Given the description of an element on the screen output the (x, y) to click on. 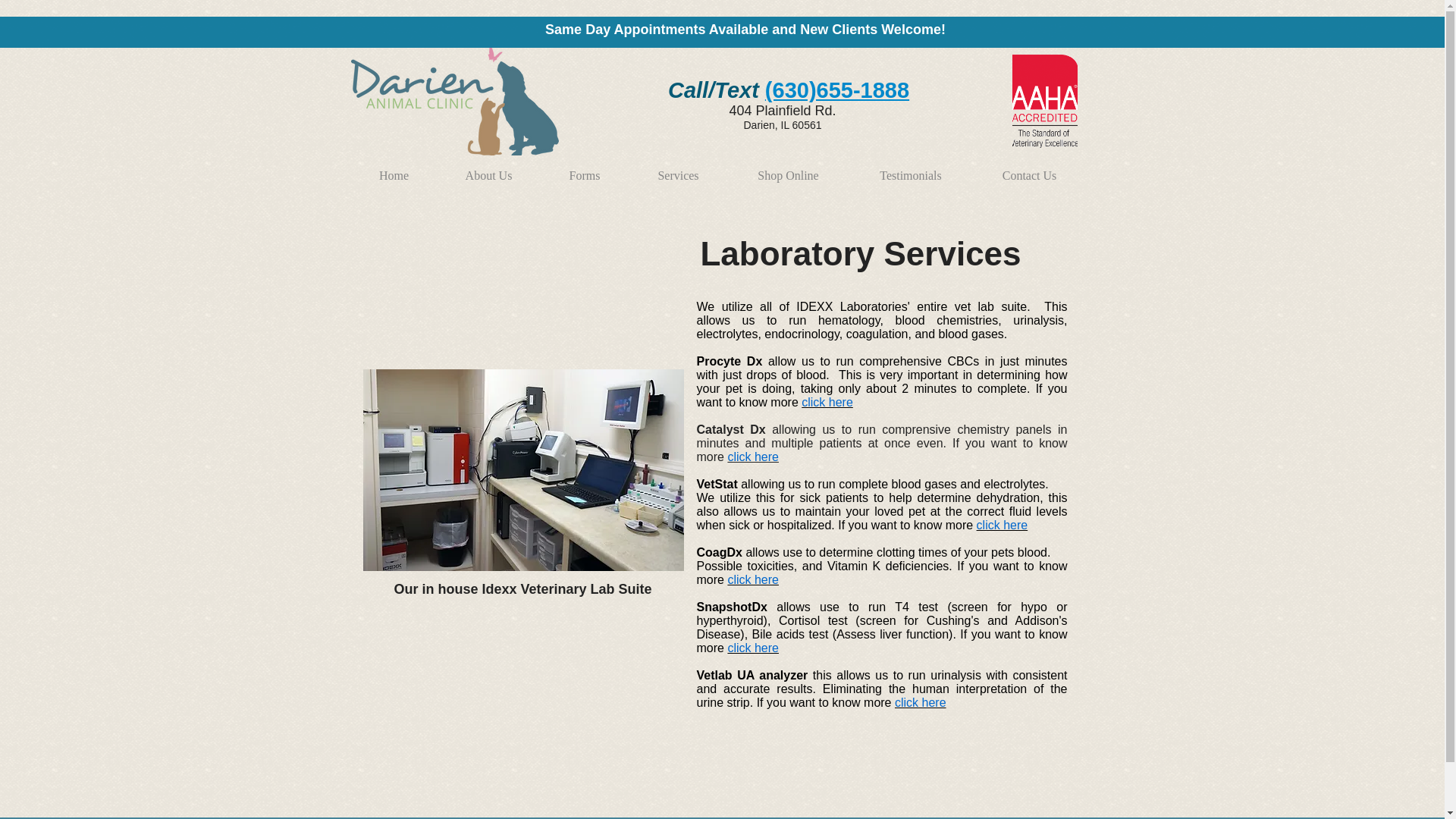
Services (678, 168)
Home (393, 168)
click here (752, 647)
About Us (488, 168)
click here (920, 702)
Forms (584, 168)
click here (1001, 524)
Testimonials (910, 168)
Shop Online (788, 168)
click here (827, 401)
DSC01528.jpg (522, 469)
click here (752, 456)
click here (752, 579)
Contact Us (1029, 168)
